Given the description of an element on the screen output the (x, y) to click on. 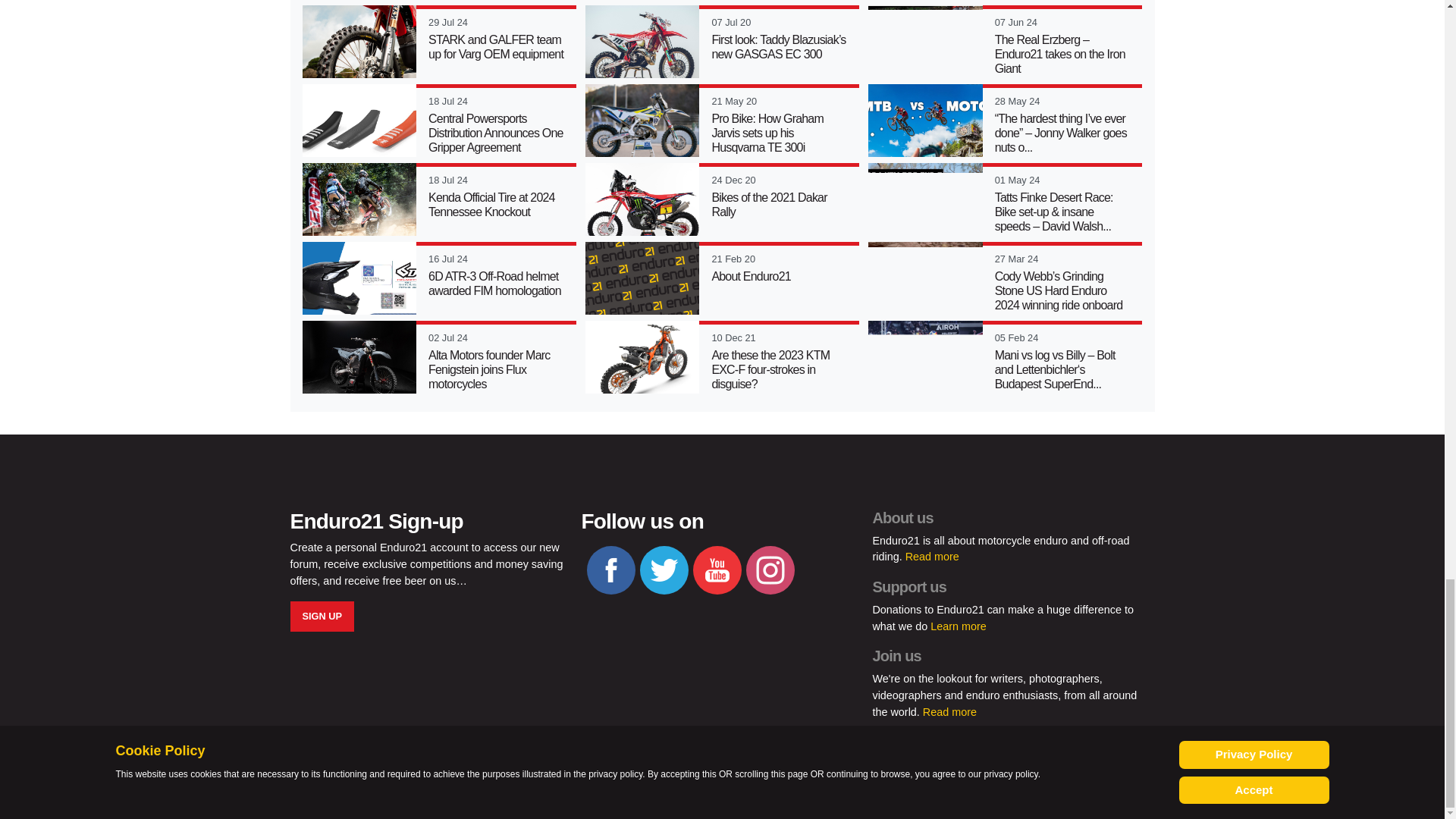
Follow us on Instagram (769, 570)
Follow us on Twitter (664, 570)
Follow us on Facebook (610, 570)
Follow us on Youtube (717, 570)
